Given the description of an element on the screen output the (x, y) to click on. 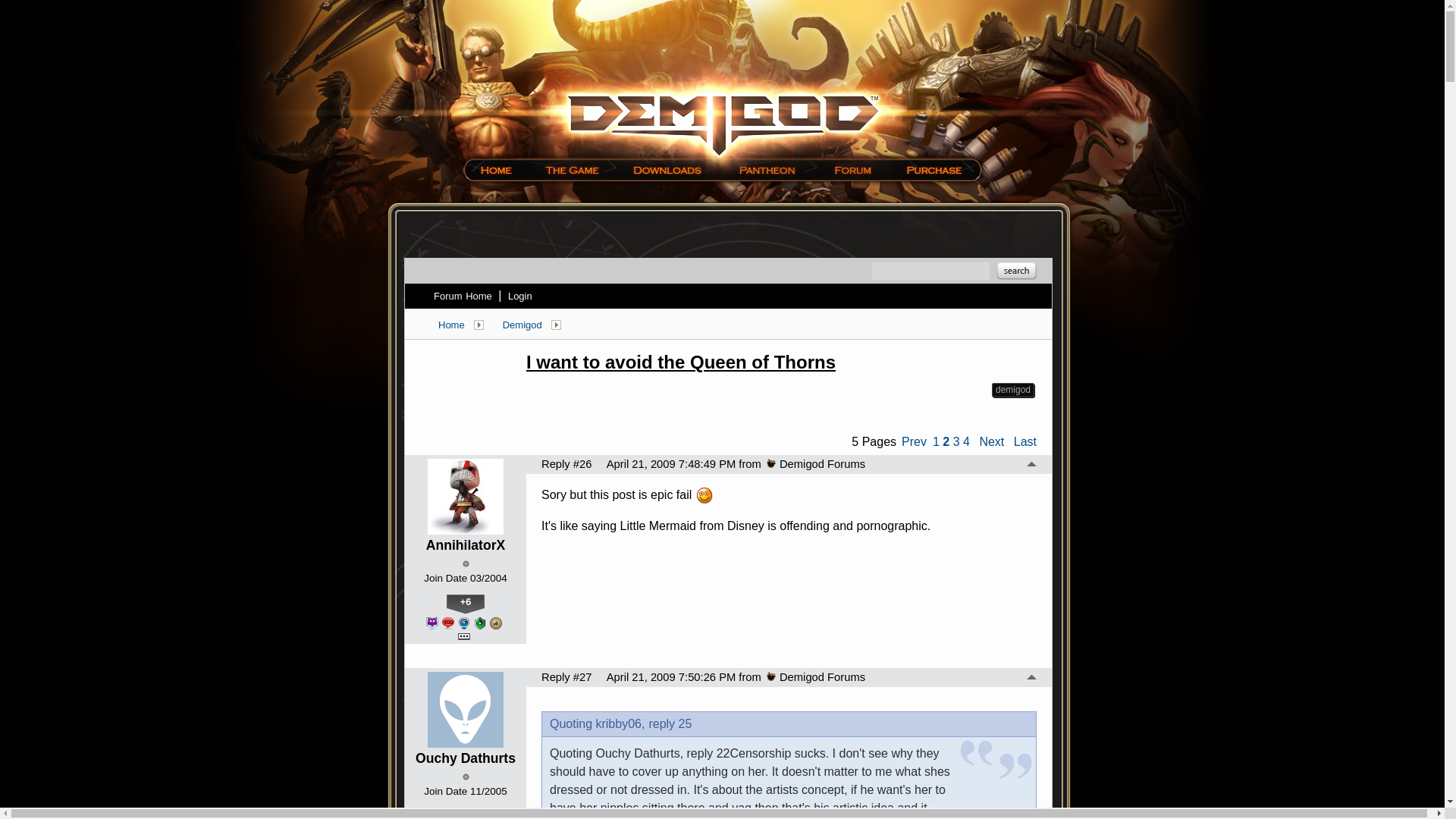
Received 1,000 clicks from shared links to a single post (432, 623)
Click to view original post (781, 362)
Rank: 1 (465, 563)
Click user name to view more options. (465, 545)
View AnnihilatorX's Karma (465, 604)
